Given the description of an element on the screen output the (x, y) to click on. 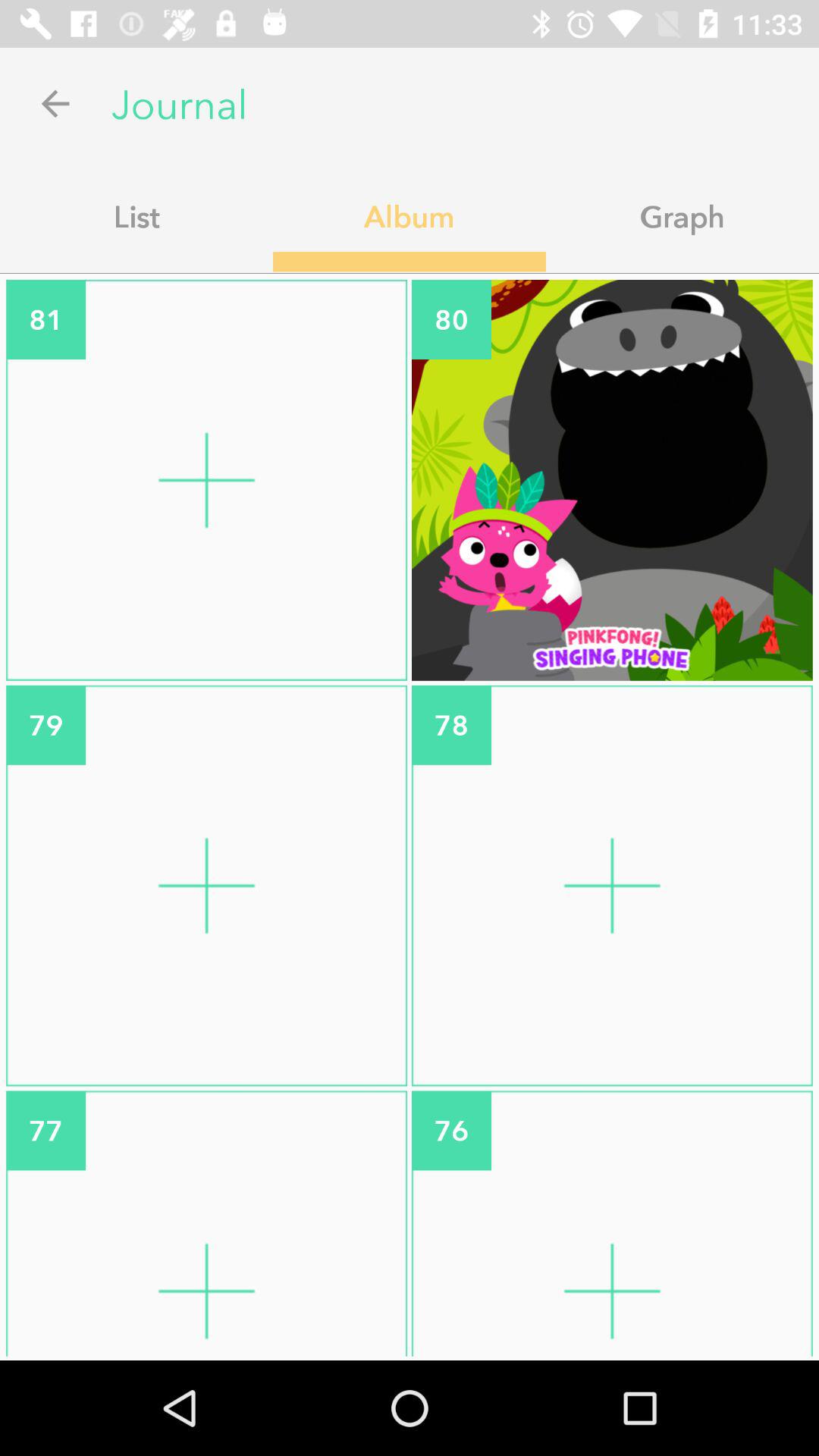
choose app next to album app (682, 216)
